Given the description of an element on the screen output the (x, y) to click on. 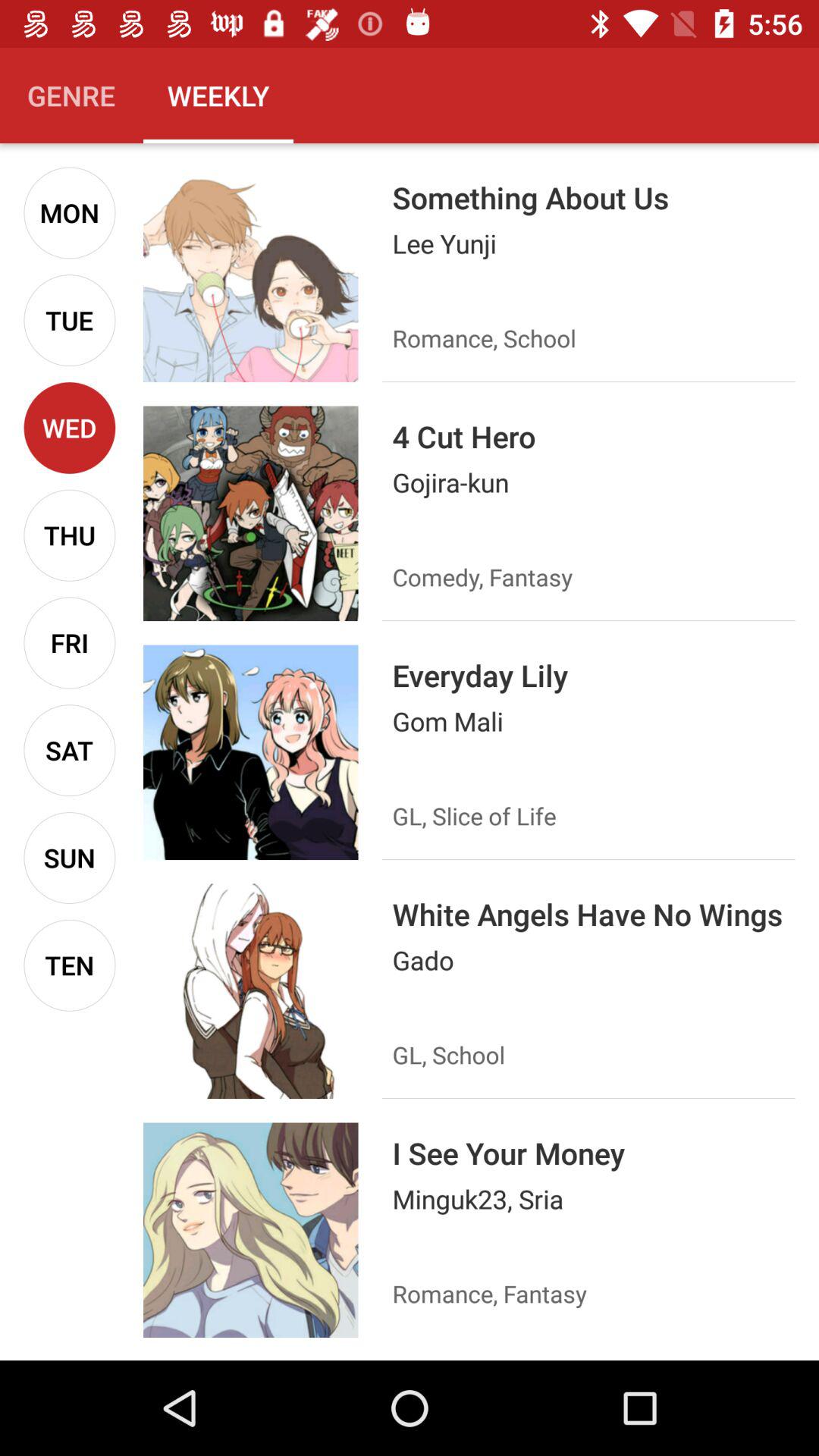
turn off the fri (69, 642)
